Given the description of an element on the screen output the (x, y) to click on. 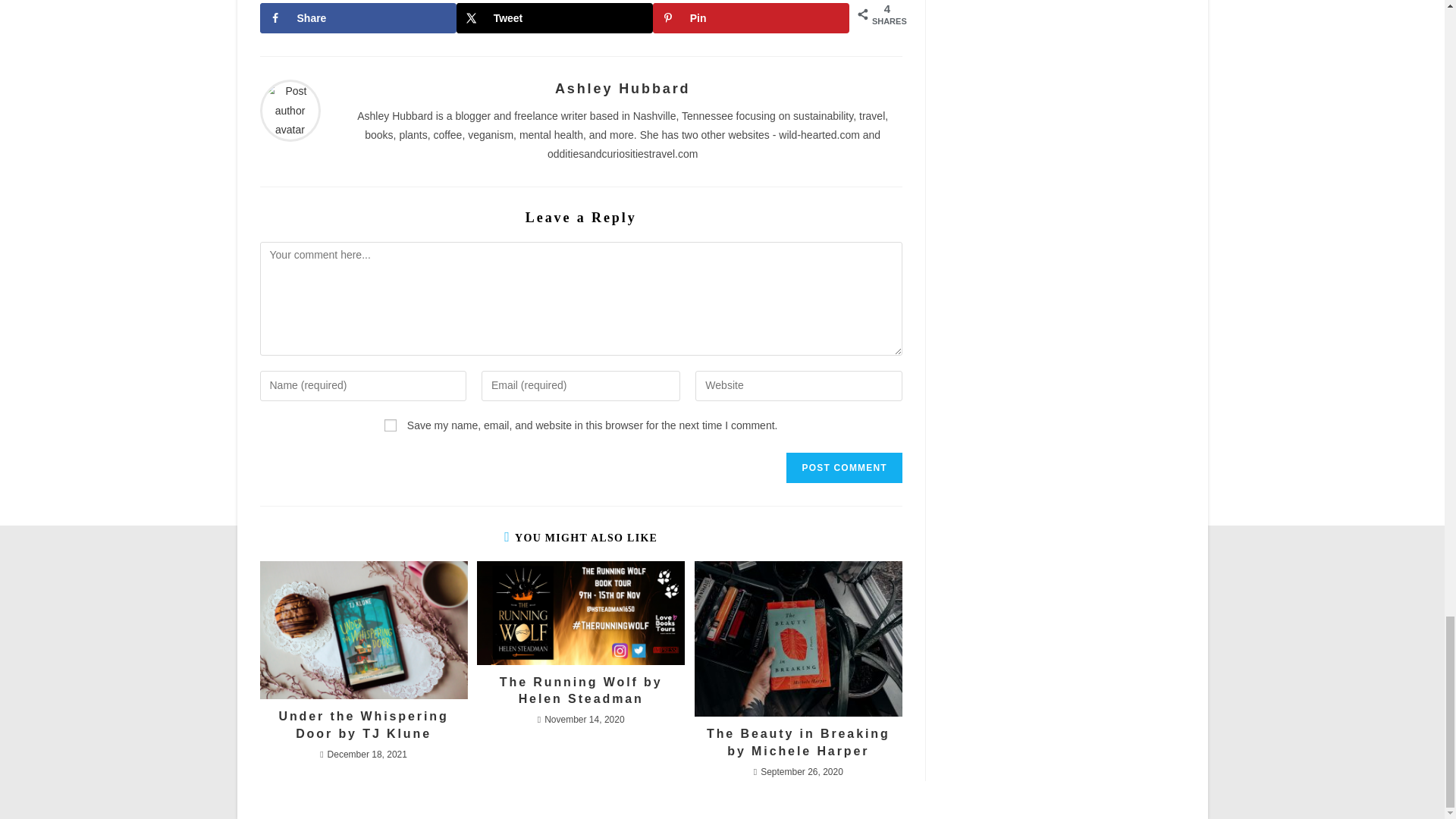
Post Comment (843, 467)
Visit author page (289, 110)
Save to Pinterest (750, 18)
yes (390, 425)
Share on Facebook (357, 18)
Share on X (554, 18)
Visit author page (622, 88)
